Given the description of an element on the screen output the (x, y) to click on. 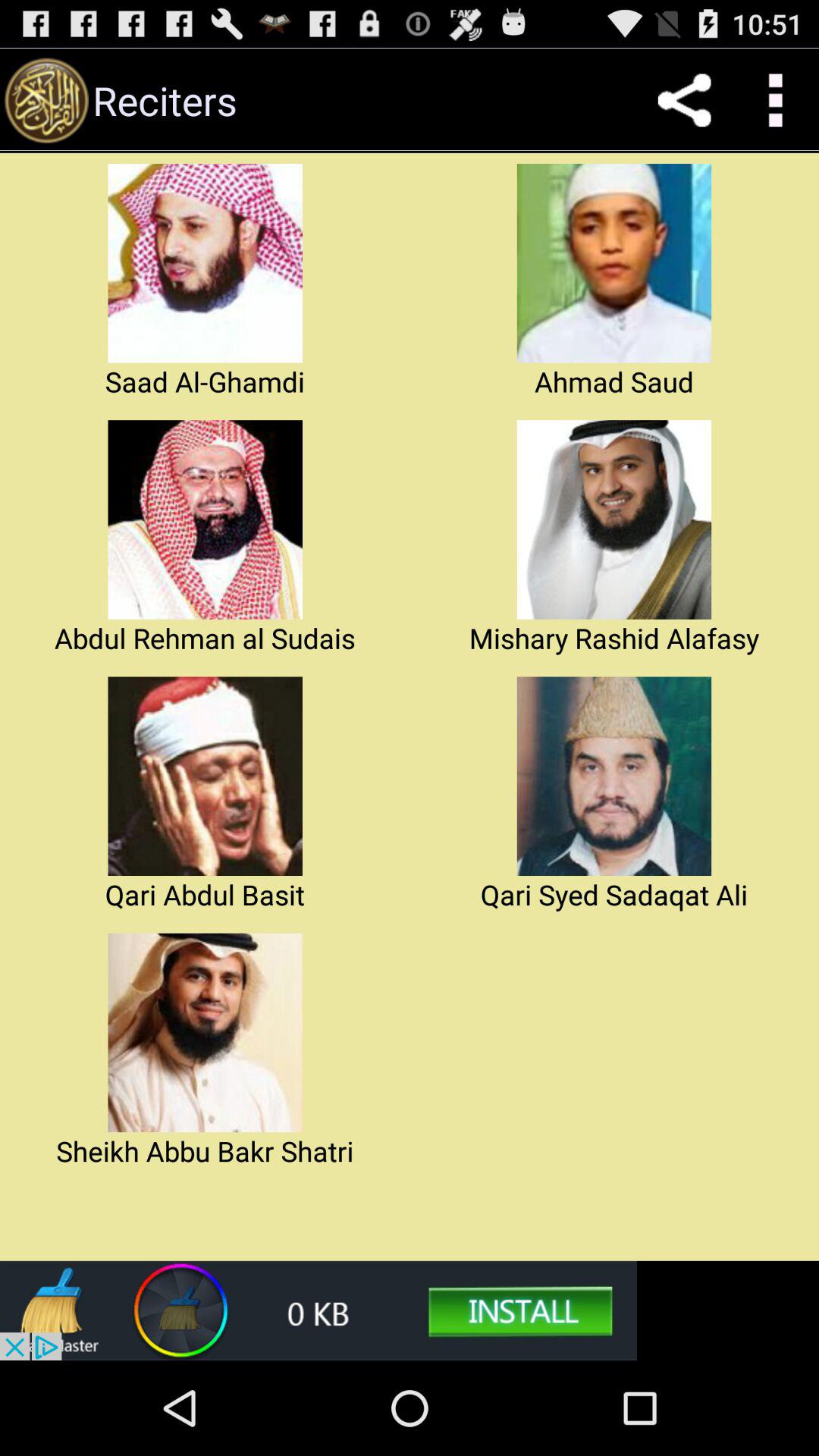
toggle the customize and control (774, 100)
